Given the description of an element on the screen output the (x, y) to click on. 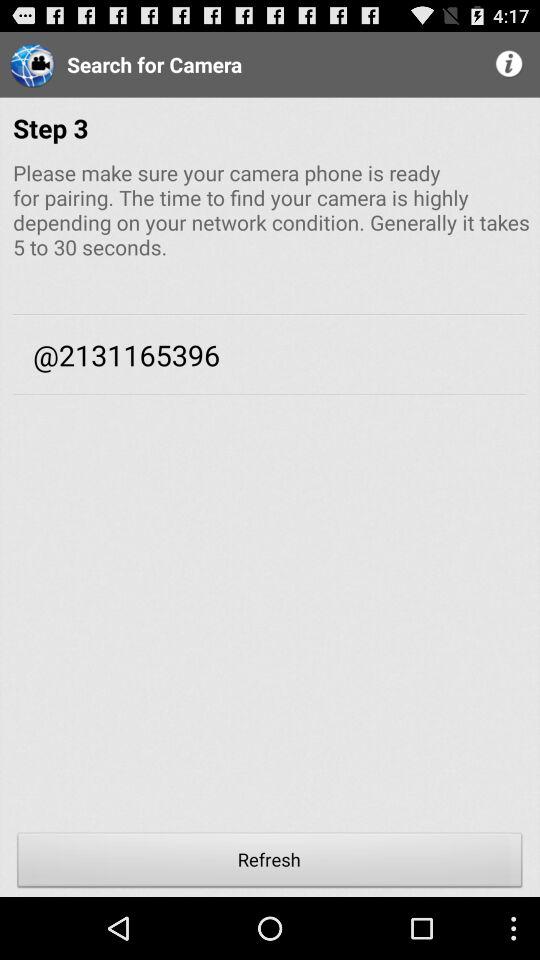
turn off the icon to the right of the search for camera app (509, 63)
